Given the description of an element on the screen output the (x, y) to click on. 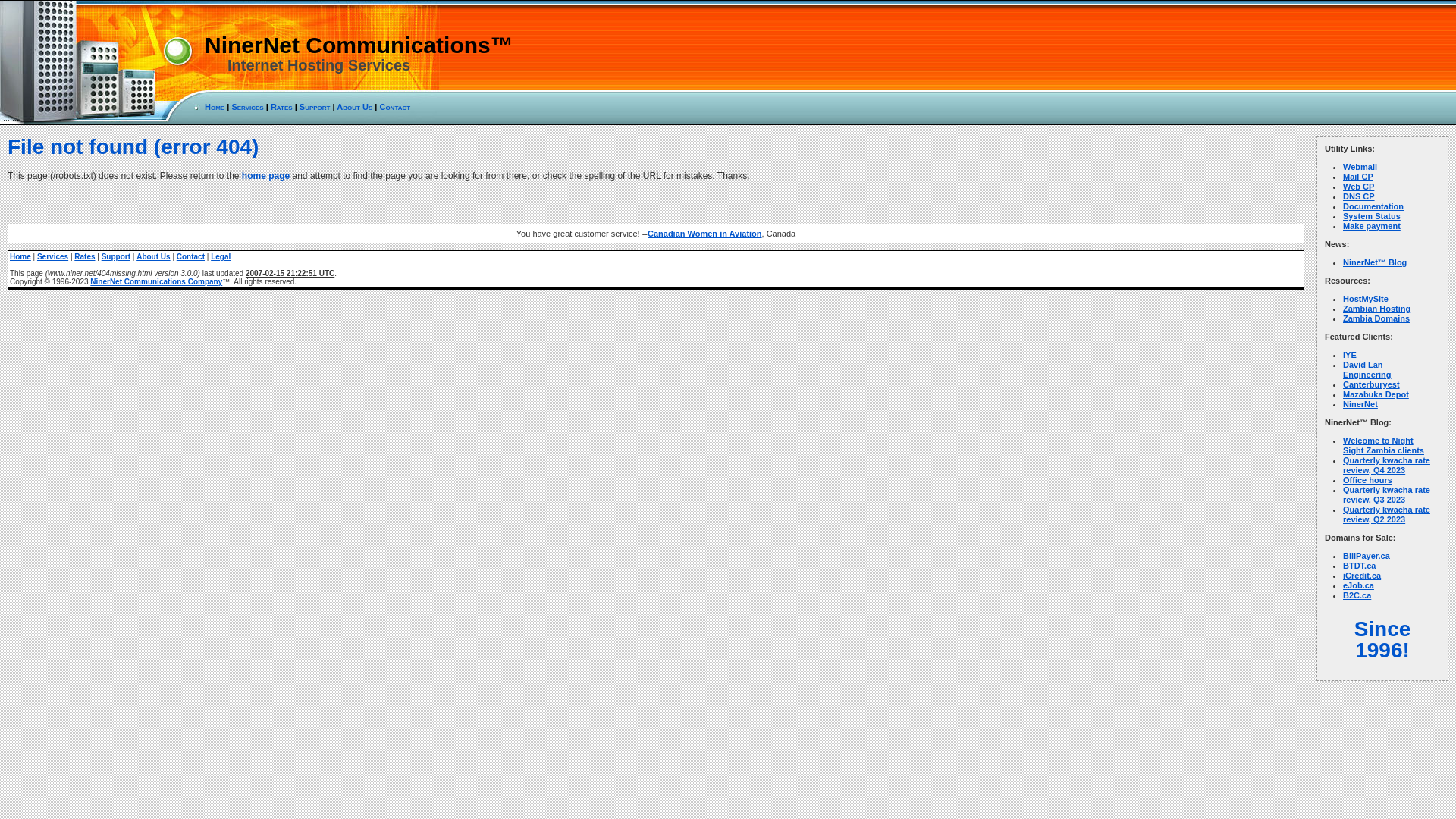
Mazabuka Depot Element type: text (1375, 393)
Contact Element type: text (190, 256)
Support Element type: text (115, 256)
Web CP Element type: text (1358, 186)
home page Element type: text (265, 175)
Rates Element type: text (281, 106)
BillPayer.ca Element type: text (1366, 555)
BTDT.ca Element type: text (1359, 565)
Webmail Element type: text (1360, 166)
Services Element type: text (52, 256)
B2C.ca Element type: text (1357, 594)
Canterburyest Element type: text (1371, 384)
Office hours Element type: text (1367, 479)
eJob.ca Element type: text (1358, 584)
DNS CP Element type: text (1358, 195)
Canadian Women in Aviation Element type: text (704, 233)
NinerNet Element type: text (1360, 403)
Legal Element type: text (220, 256)
Rates Element type: text (84, 256)
System Status Element type: text (1371, 215)
Mail CP Element type: text (1358, 176)
NinerNet Communications Company Element type: text (156, 281)
iCredit.ca Element type: text (1361, 575)
IYE Element type: text (1349, 354)
Make payment Element type: text (1371, 225)
Quarterly kwacha rate review, Q3 2023 Element type: text (1386, 494)
David Lan Engineering Element type: text (1367, 369)
Zambia Domains Element type: text (1376, 318)
Quarterly kwacha rate review, Q4 2023 Element type: text (1386, 464)
Support Element type: text (314, 106)
Zambian Hosting Element type: text (1376, 308)
About Us Element type: text (354, 106)
Quarterly kwacha rate review, Q2 2023 Element type: text (1386, 514)
Documentation Element type: text (1373, 205)
Home Element type: text (214, 106)
Services Element type: text (247, 106)
About Us Element type: text (152, 256)
Home Element type: text (20, 256)
Contact Element type: text (394, 106)
Since 1996! Element type: text (1382, 639)
HostMySite Element type: text (1365, 298)
Welcome to Night Sight Zambia clients Element type: text (1383, 445)
